Given the description of an element on the screen output the (x, y) to click on. 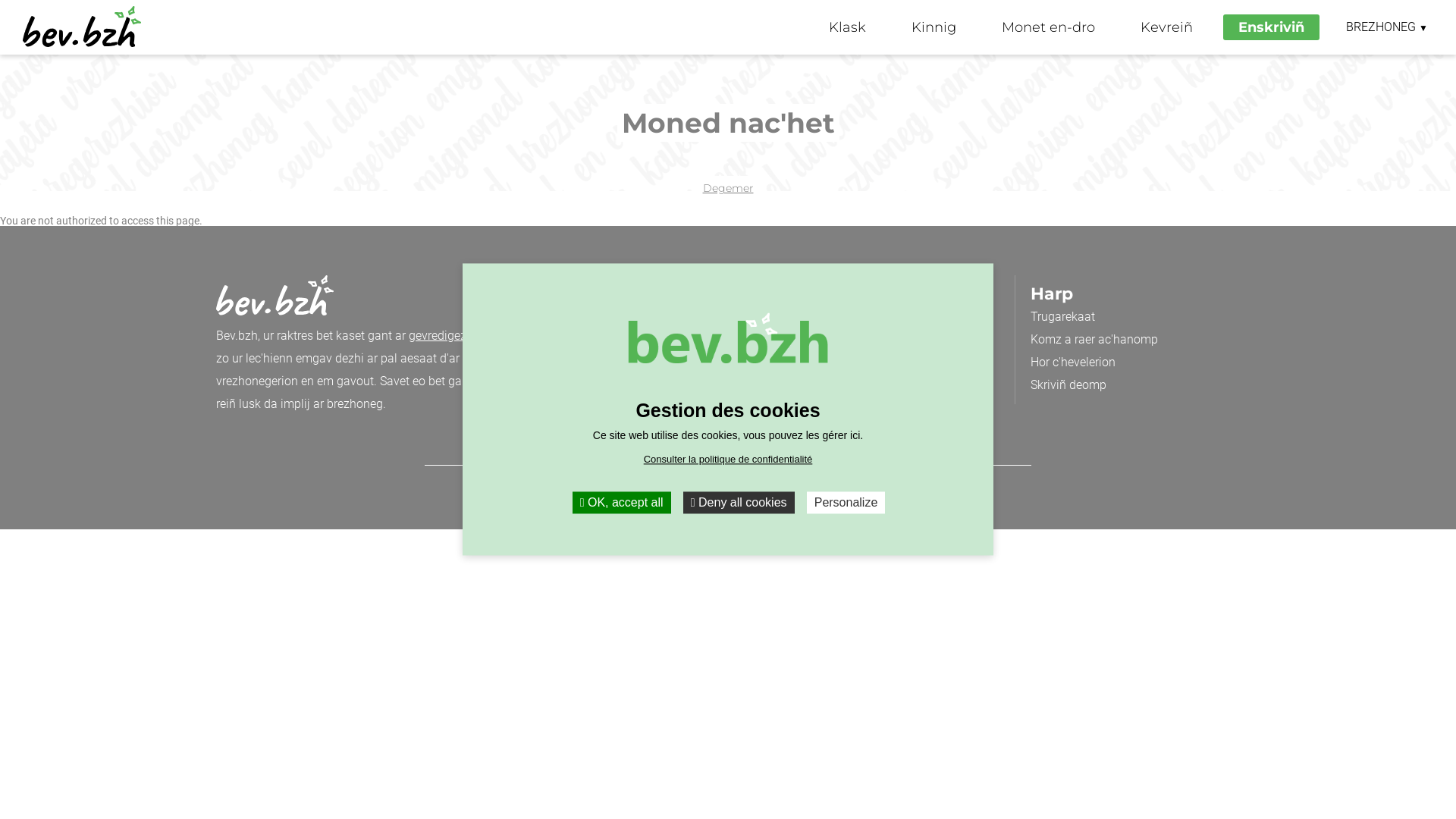
Ma c'hont Element type: text (831, 384)
Degemer Element type: text (727, 187)
Klask Element type: text (847, 27)
Trugarekaat Element type: text (1062, 316)
DCP Element type: text (876, 485)
Personalize Element type: text (845, 502)
OK, accept all Element type: text (621, 502)
Agence web sites Internet et applications Element type: hover (619, 501)
Monet en-dro Bev.bzh Element type: text (863, 316)
Monet en-dro Element type: text (1048, 27)
Klask lojeris Element type: text (612, 339)
CGU Element type: text (847, 485)
gevredigezh Roued Element type: text (459, 335)
Hor c'hevelerion Element type: text (1072, 361)
Deny all cookies Element type: text (738, 502)
Skip to main content Element type: text (0, 54)
Kinnig Element type: text (933, 27)
Degemer un abadenn Element type: text (636, 361)
Klask pred Element type: text (608, 316)
Komz a raer ac'hanomp Element type: text (1093, 339)
